Given the description of an element on the screen output the (x, y) to click on. 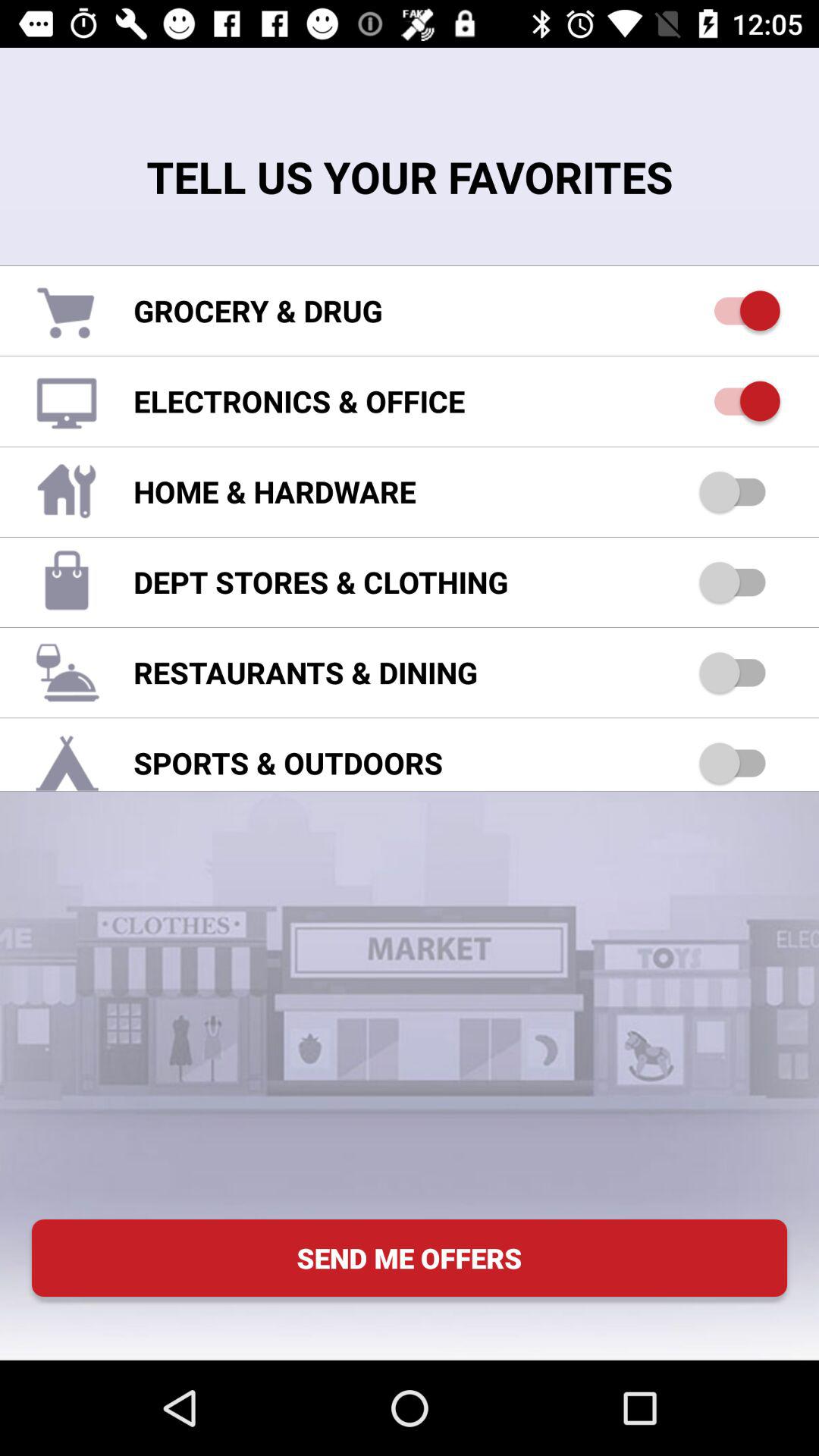
toggle electronics office (739, 401)
